Given the description of an element on the screen output the (x, y) to click on. 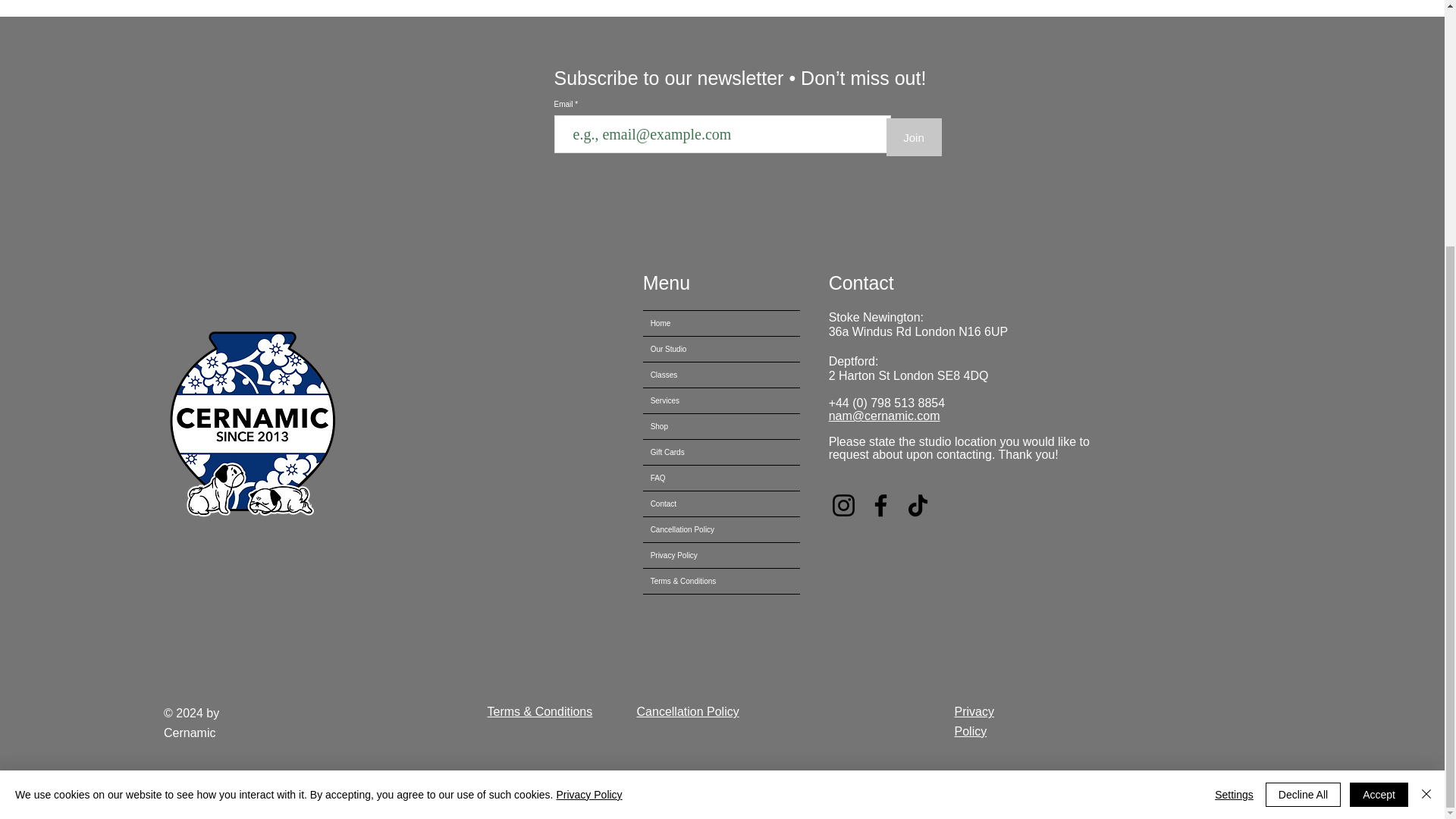
Our Studio (721, 348)
Shop (721, 426)
FAQ (721, 478)
Classes (721, 374)
Home (721, 323)
Gift Cards (721, 452)
Services (721, 400)
